Given the description of an element on the screen output the (x, y) to click on. 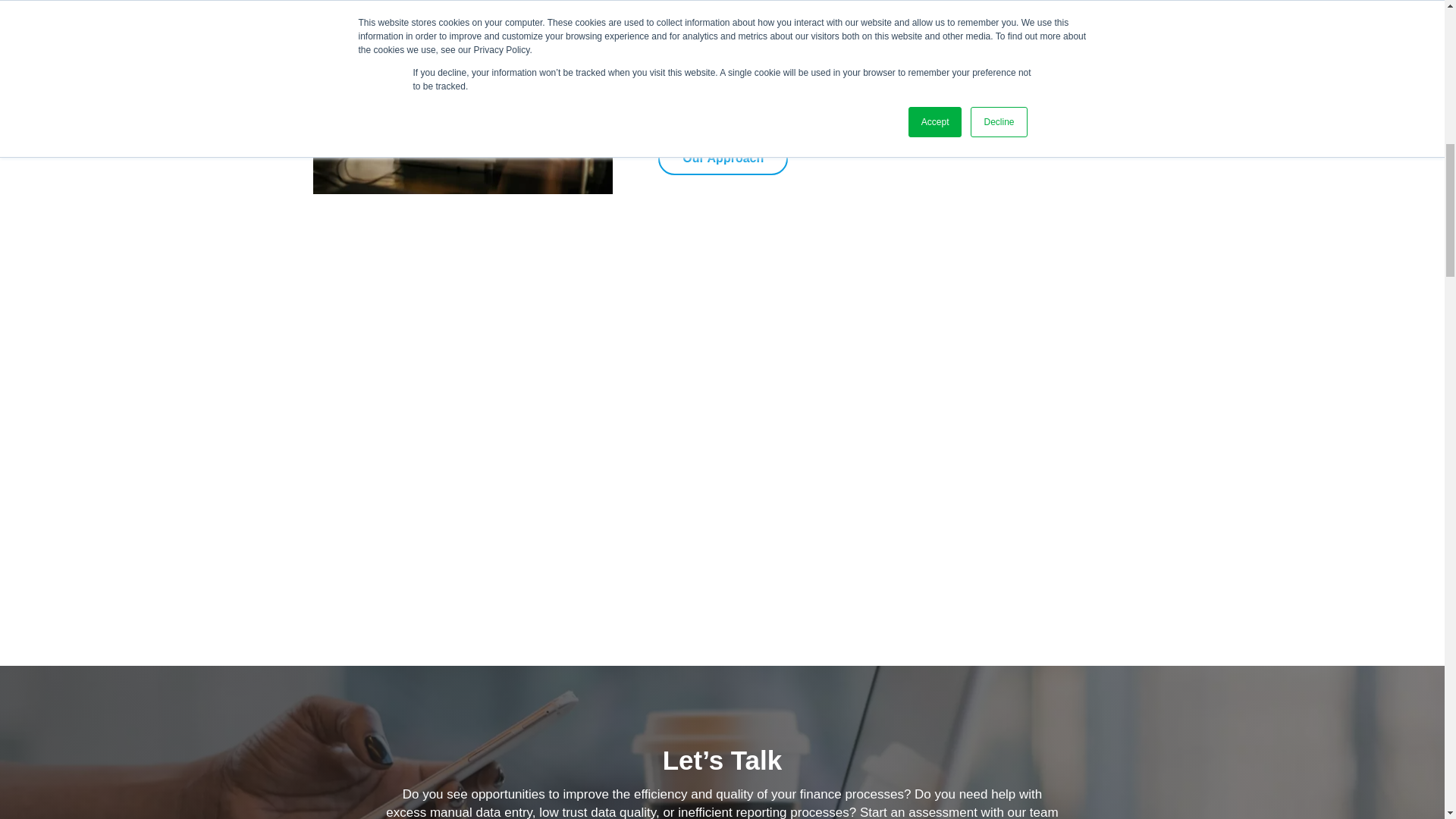
8 (462, 97)
